Given the description of an element on the screen output the (x, y) to click on. 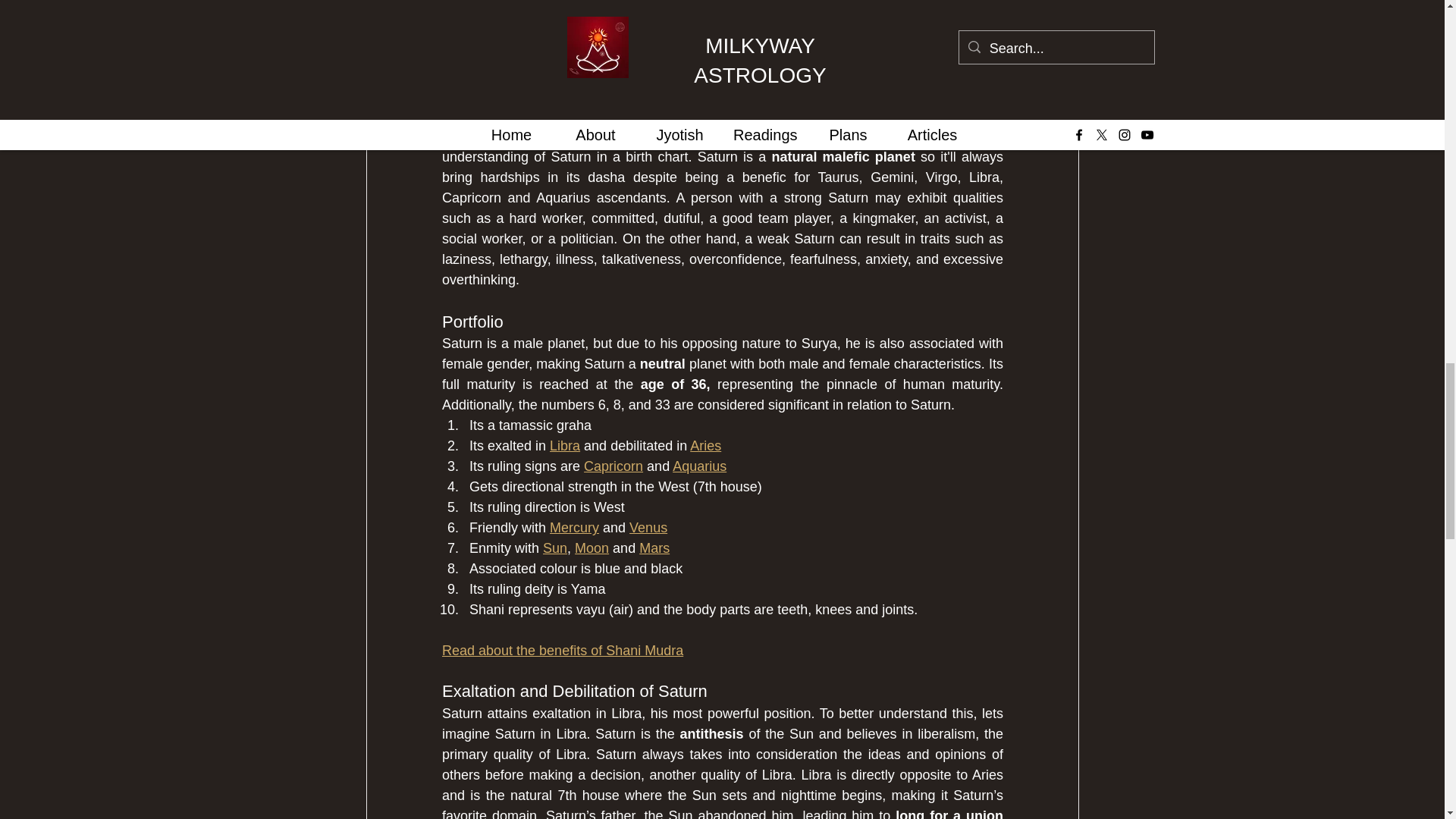
Moon (591, 548)
Mercury (574, 527)
Venus (647, 527)
Capricorn (613, 466)
Libra (564, 445)
Aquarius (699, 466)
Sun (555, 548)
Aries (705, 445)
